Given the description of an element on the screen output the (x, y) to click on. 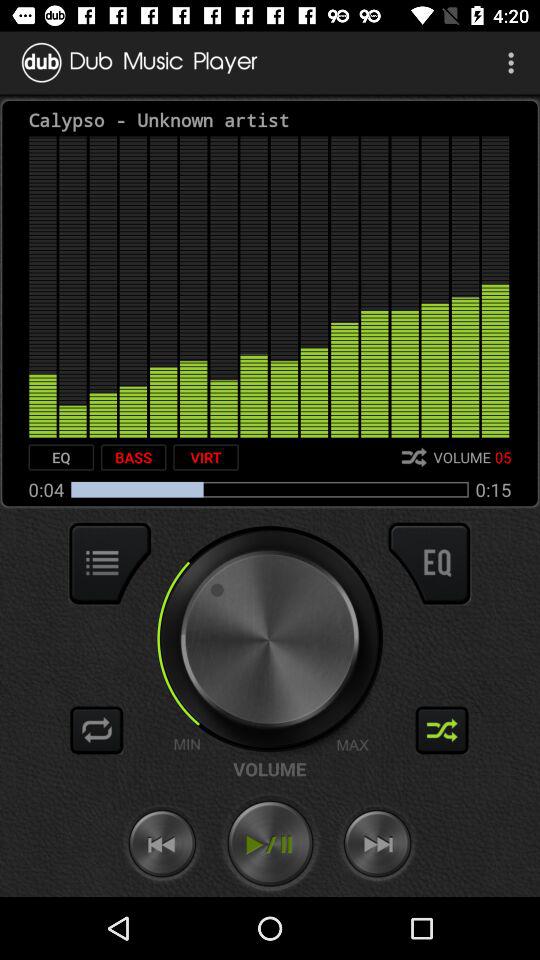
previous track (162, 844)
